Given the description of an element on the screen output the (x, y) to click on. 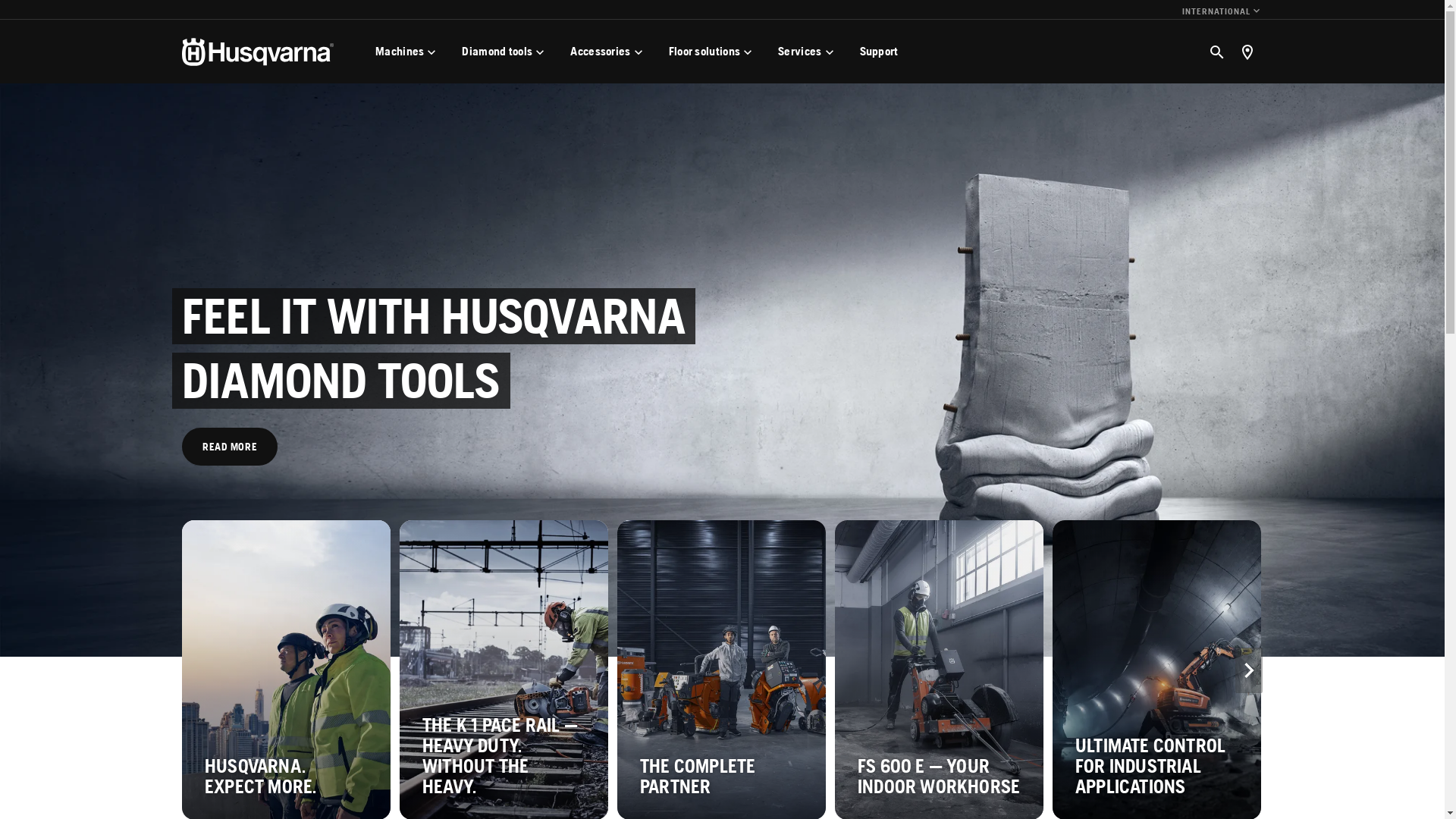
INTERNATIONAL Element type: text (1222, 11)
Machines Element type: text (407, 51)
Floor solutions Element type: text (712, 51)
READ MORE Element type: text (229, 446)
Support Element type: text (879, 51)
Services Element type: text (806, 51)
Accessories Element type: text (607, 51)
Diamond tools Element type: text (504, 51)
